Given the description of an element on the screen output the (x, y) to click on. 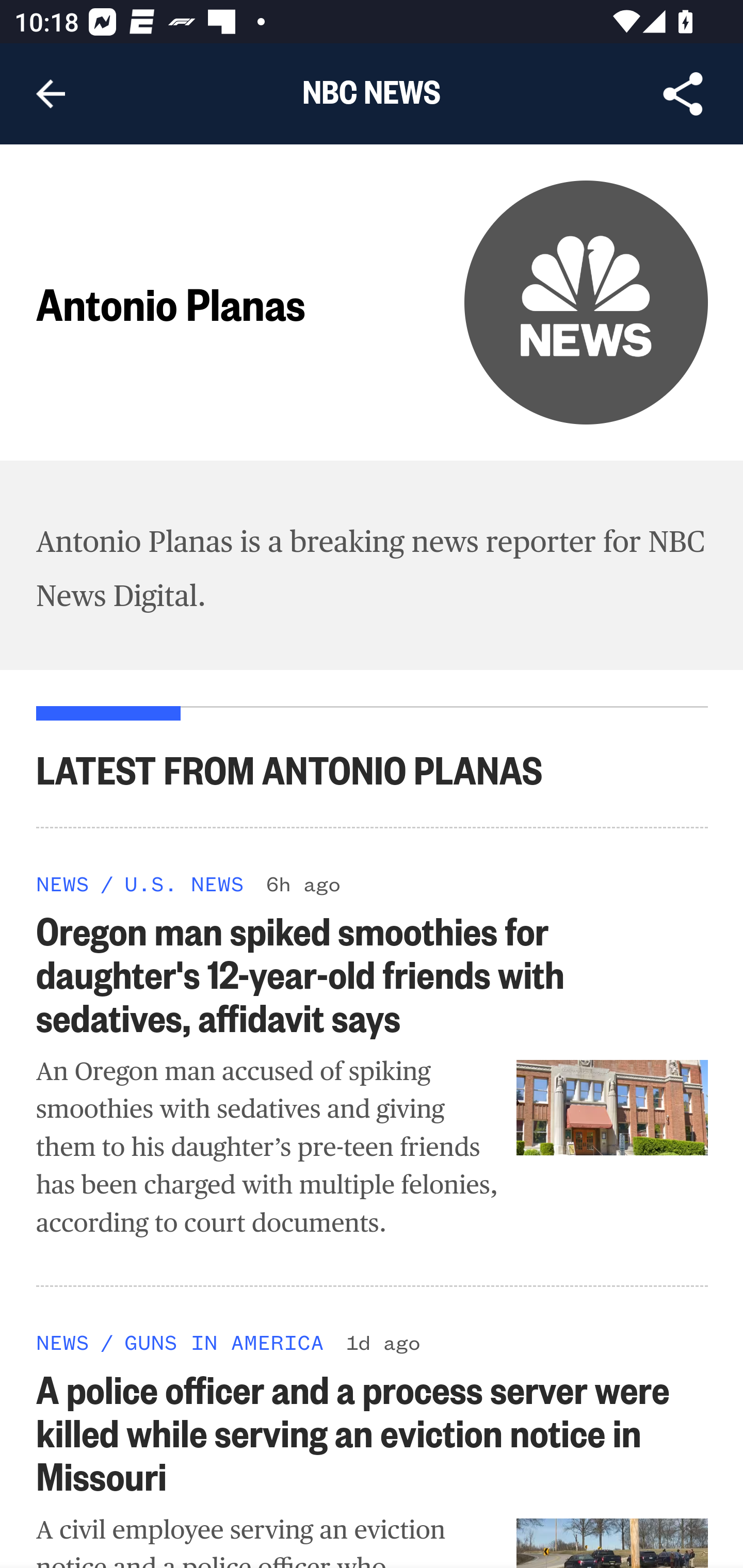
Navigate up (50, 93)
Share Article, button (683, 94)
NEWS NEWS NEWS (63, 882)
U.S. NEWS U.S. NEWS U.S. NEWS (183, 882)
NEWS NEWS NEWS (63, 1340)
GUNS IN AMERICA GUNS IN AMERICA GUNS IN AMERICA (223, 1340)
